Given the description of an element on the screen output the (x, y) to click on. 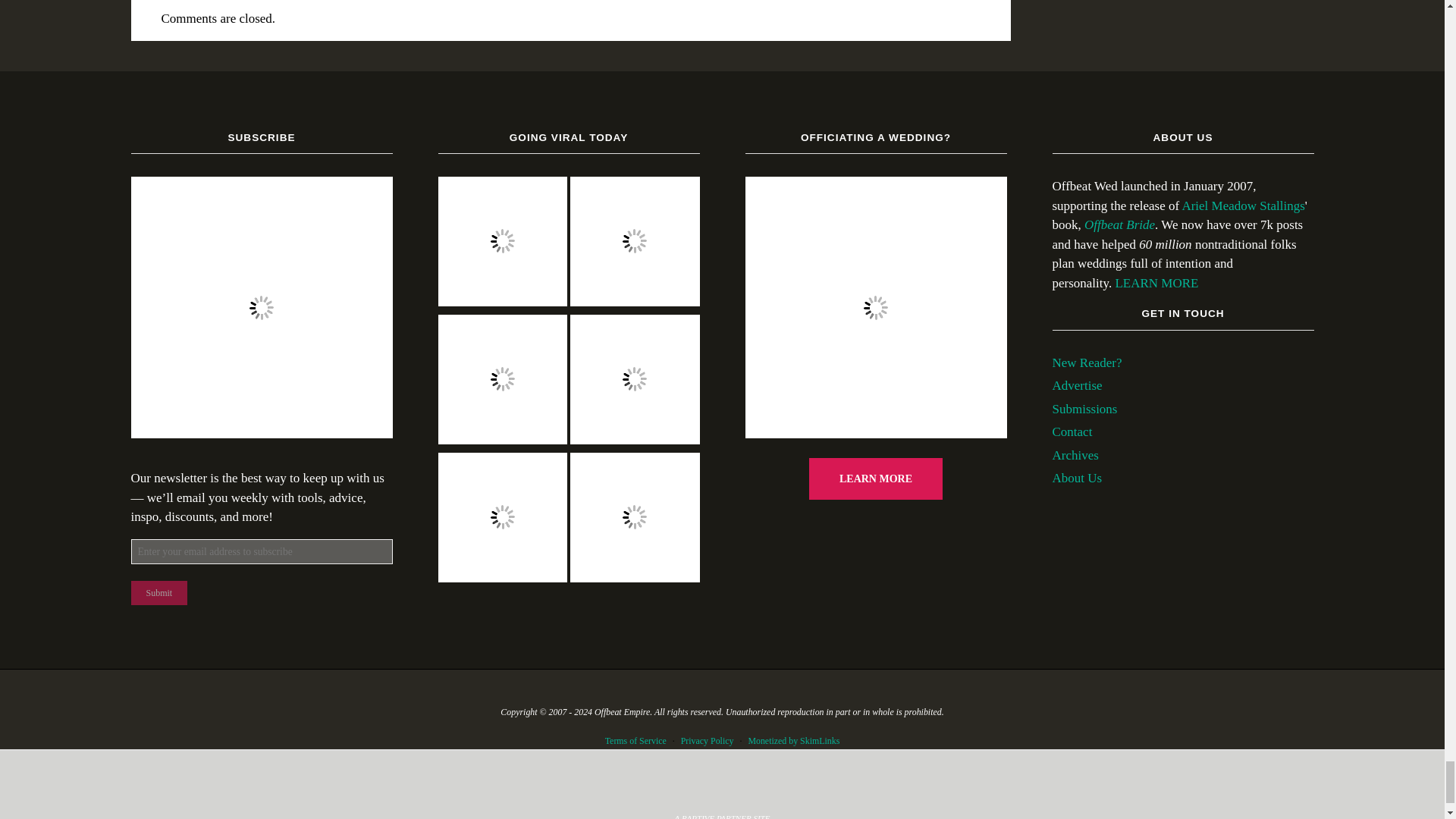
Submit (159, 592)
